Given the description of an element on the screen output the (x, y) to click on. 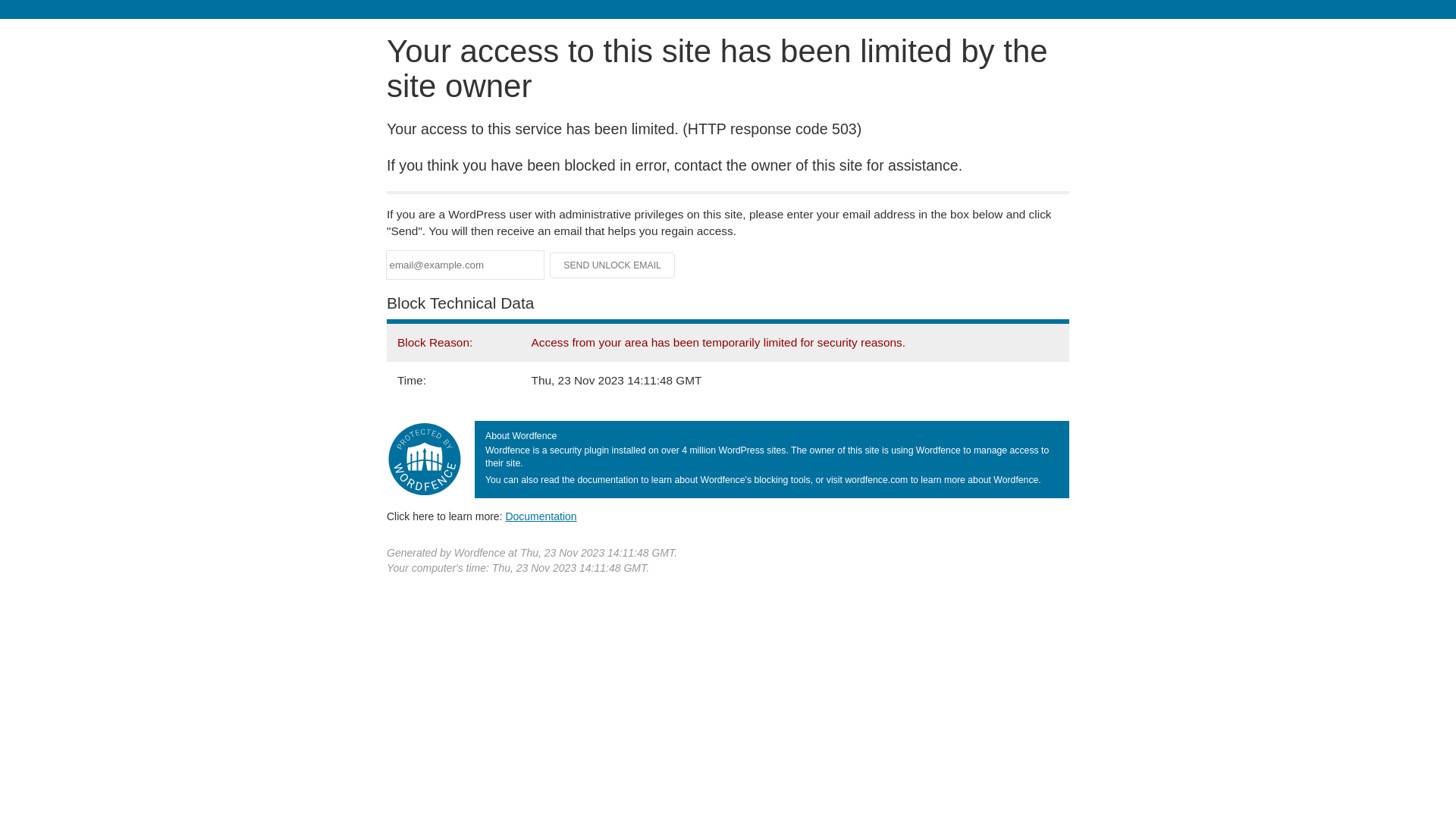
Documentation Element type: text (540, 516)
Send Unlock Email Element type: text (612, 265)
